Given the description of an element on the screen output the (x, y) to click on. 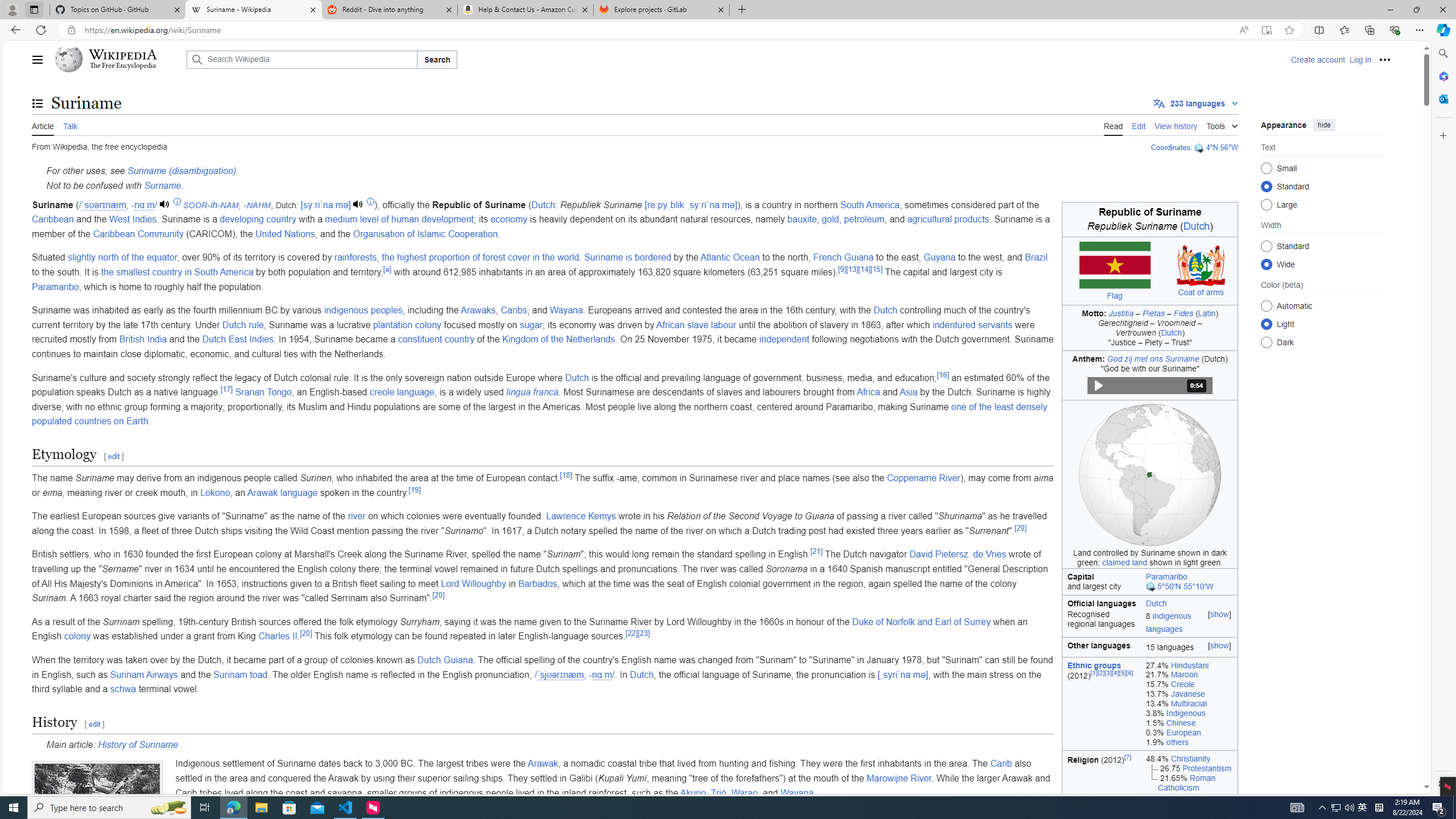
Log in (1360, 58)
petroleum (864, 219)
[13] (852, 268)
21.7% Maroon (1189, 674)
Edit (1138, 124)
developing country (258, 219)
15.7% Creole (1189, 684)
constituent country (435, 339)
26.75 Protestantism (1189, 768)
Personal tools (1384, 59)
Suriname - Wikipedia (253, 9)
schwa (122, 688)
medium level of human development (399, 219)
[16] (942, 374)
